Given the description of an element on the screen output the (x, y) to click on. 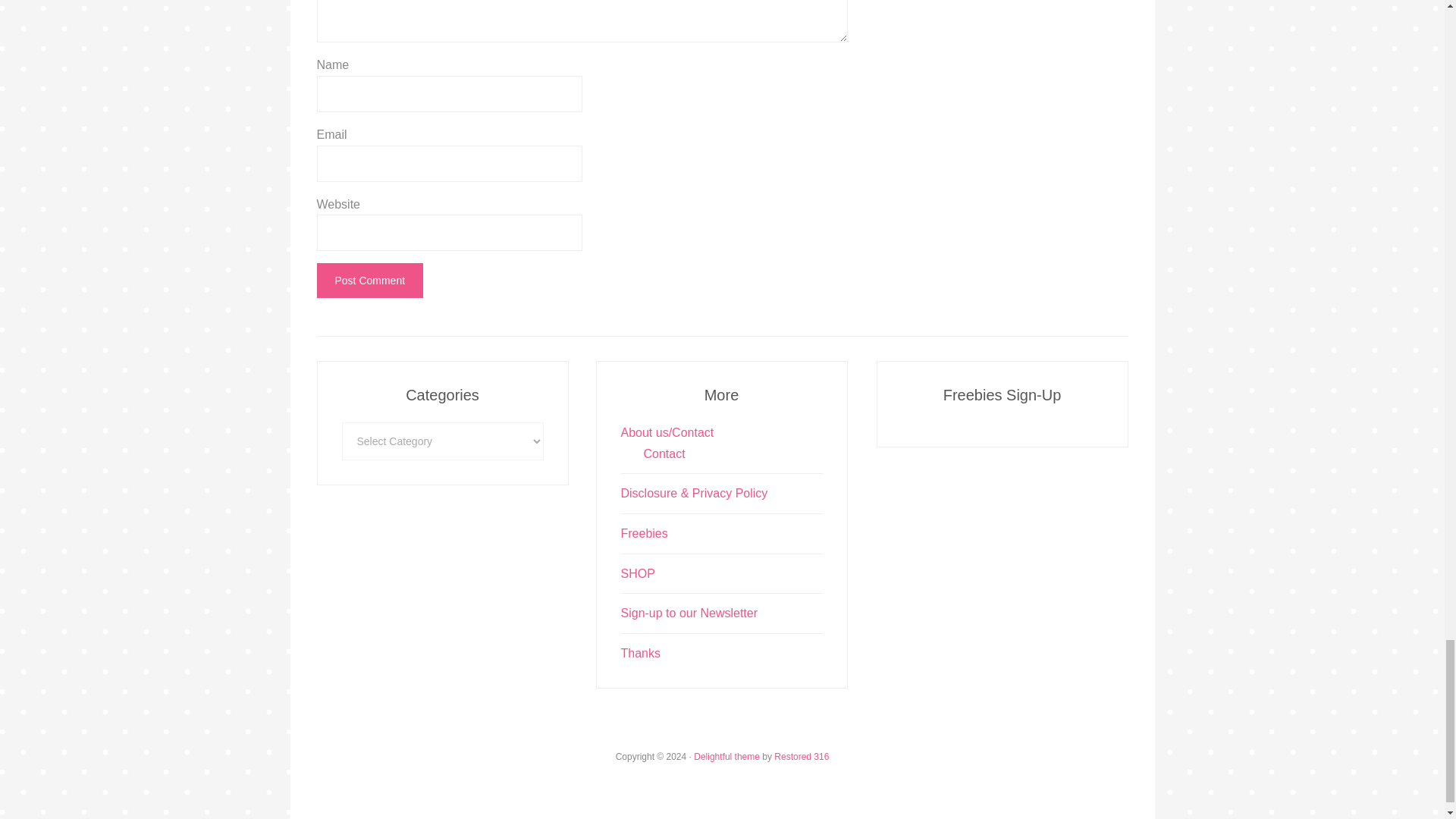
Post Comment (370, 280)
